Given the description of an element on the screen output the (x, y) to click on. 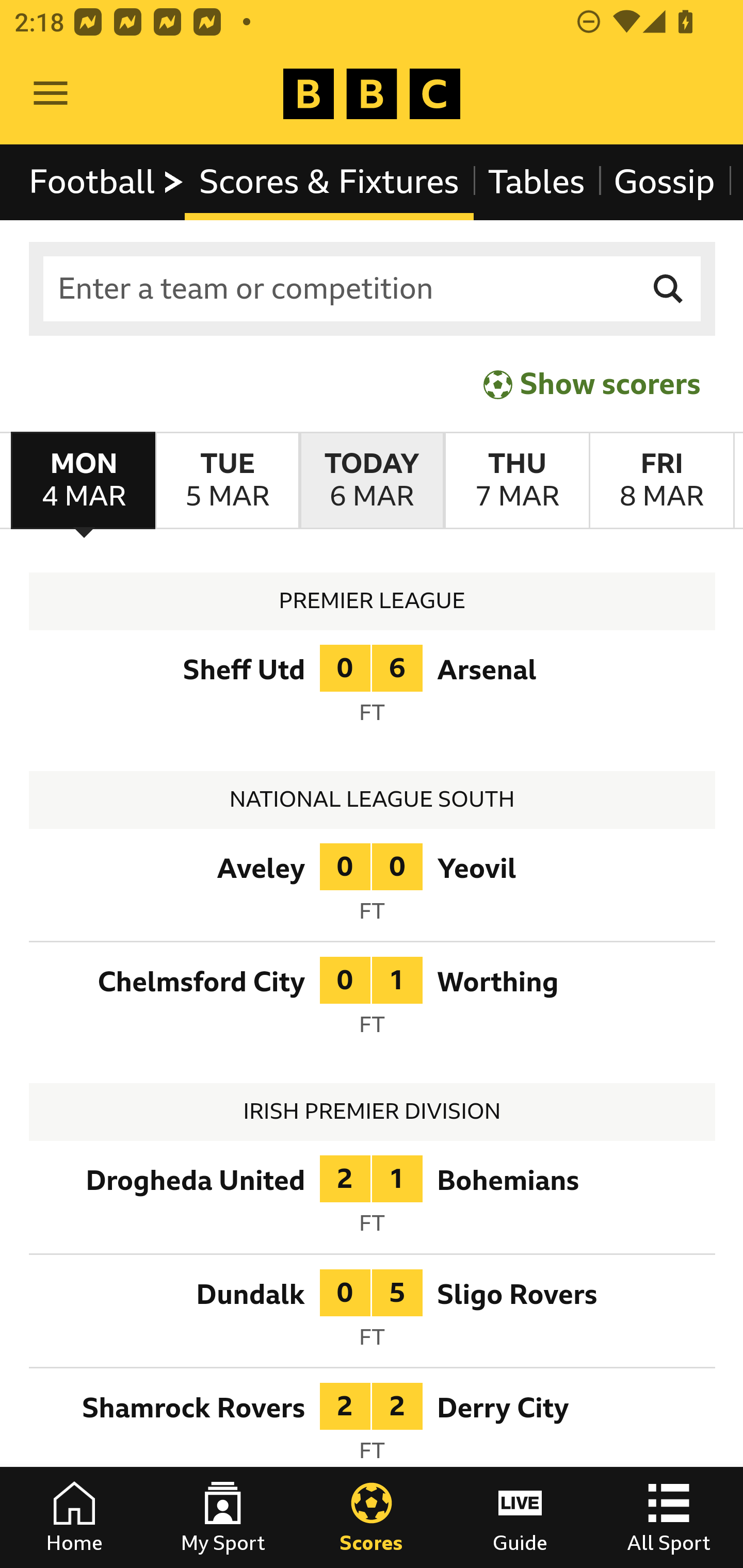
Open Menu (50, 93)
Football  (106, 181)
Scores & Fixtures (329, 181)
Tables (536, 181)
Gossip (664, 181)
Search (669, 289)
Show scorers (591, 383)
TuesdayMarch 5th Tuesday March 5th (227, 480)
TodayMarch 6th Today March 6th (371, 480)
ThursdayMarch 7th Thursday March 7th (516, 480)
FridayMarch 8th Friday March 8th (661, 480)
68399653 Sheffield United 0 Arsenal 6 Full Time (372, 689)
Home (74, 1517)
My Sport (222, 1517)
Guide (519, 1517)
All Sport (668, 1517)
